Given the description of an element on the screen output the (x, y) to click on. 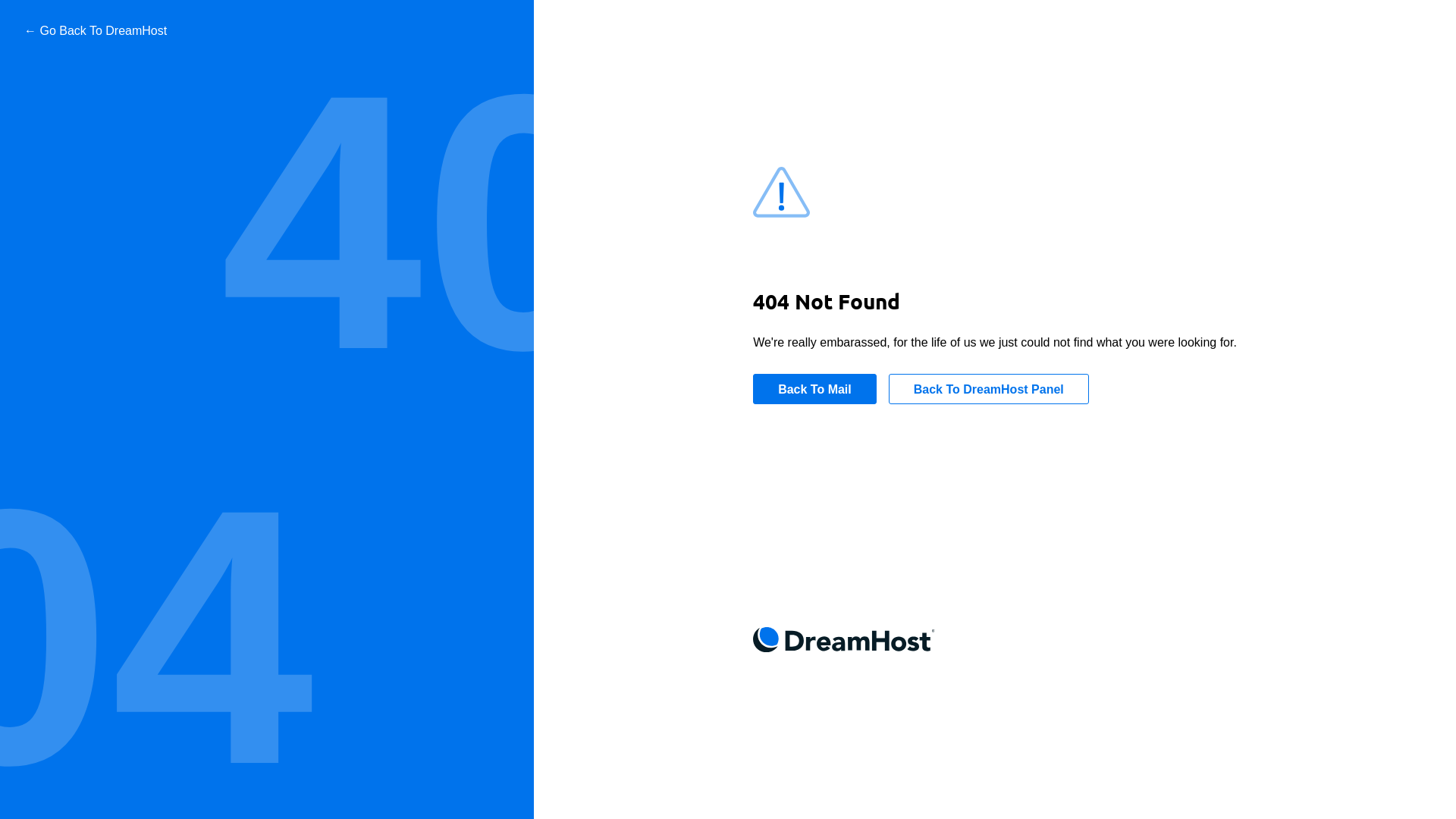
Back To Mail Element type: text (814, 388)
Back To DreamHost Panel Element type: text (988, 388)
